Given the description of an element on the screen output the (x, y) to click on. 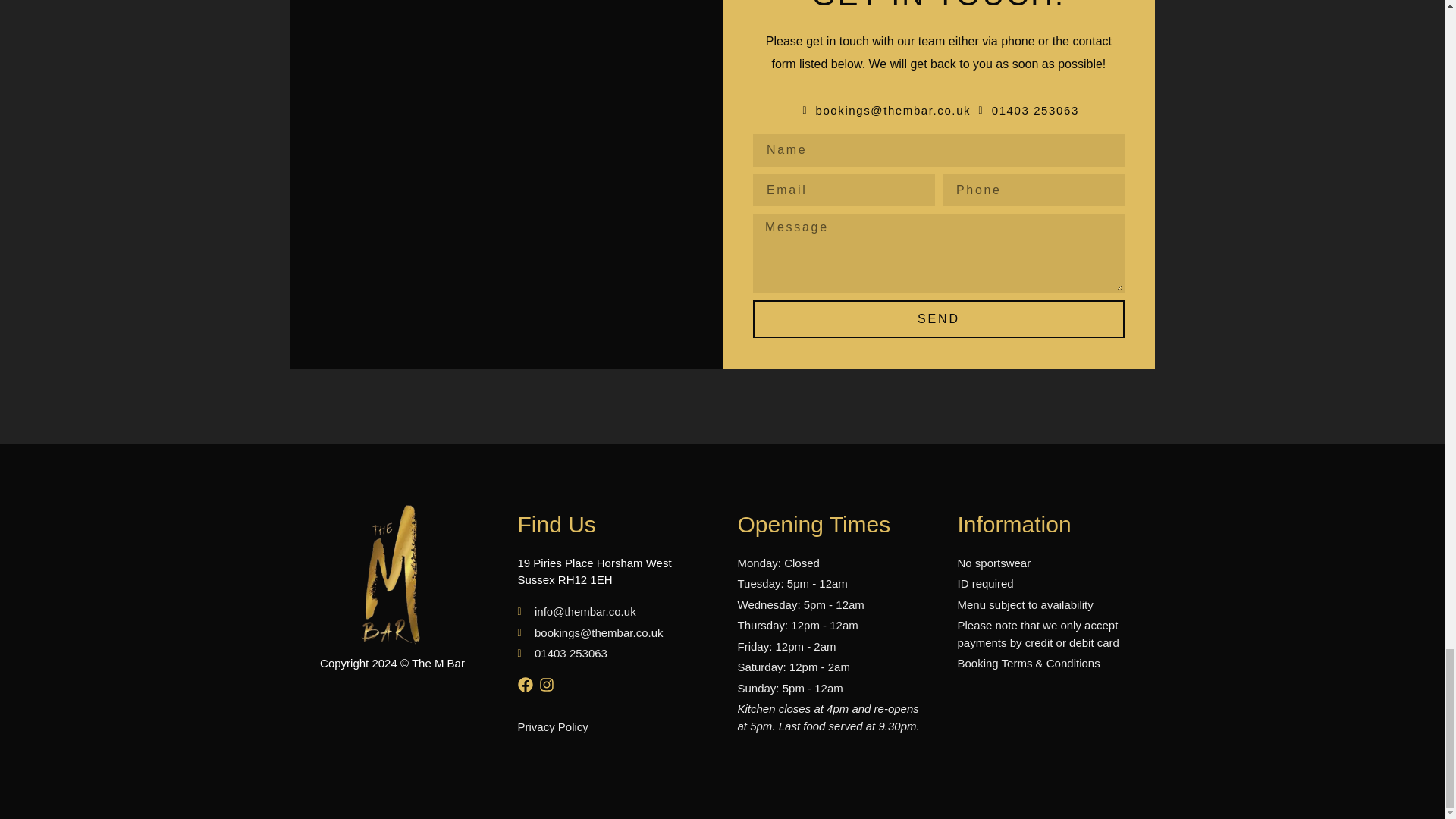
01403 253063 (1026, 110)
SEND (938, 319)
